Given the description of an element on the screen output the (x, y) to click on. 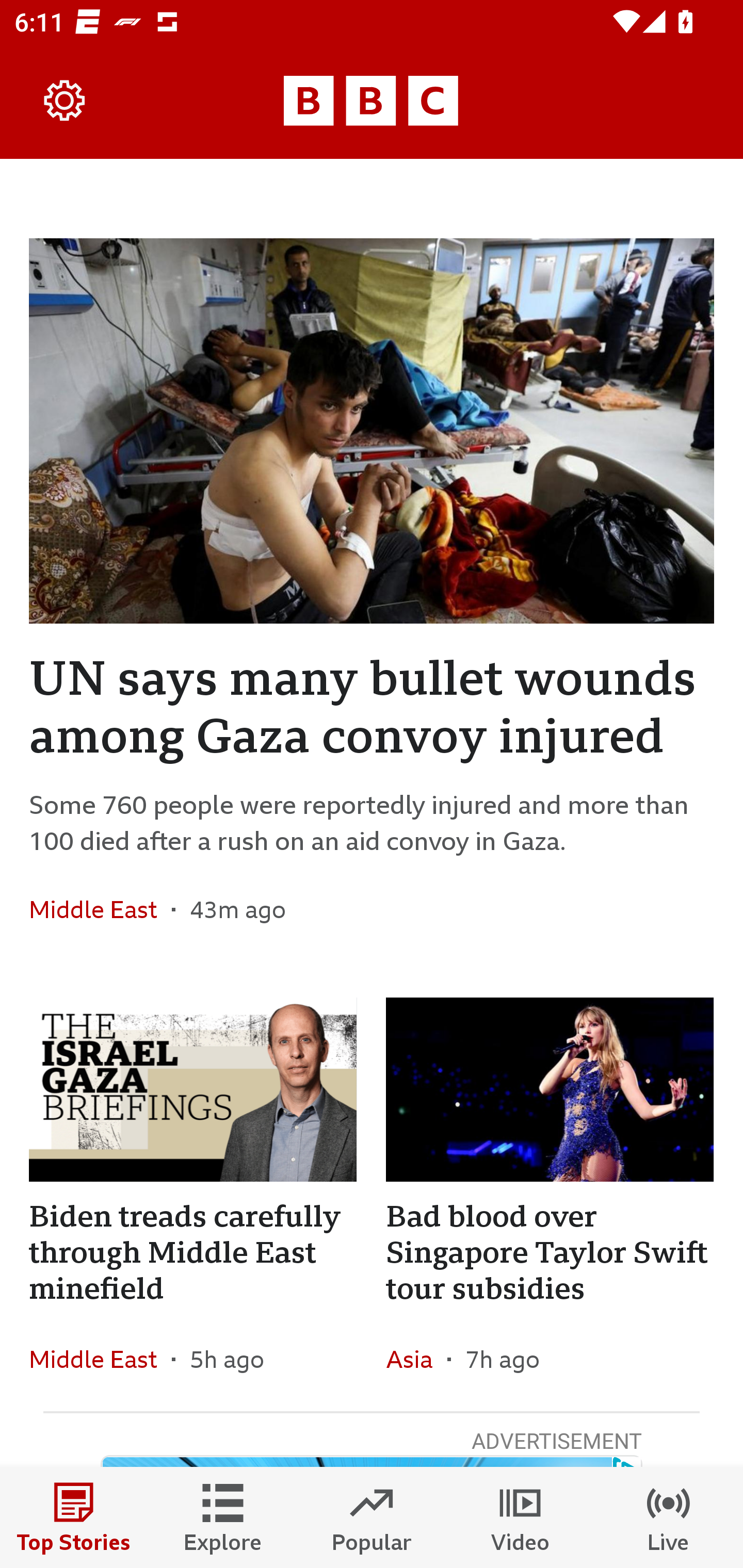
Settings (64, 100)
Middle East In the section Middle East (99, 909)
Middle East In the section Middle East (99, 1359)
Asia In the section Asia (416, 1359)
Explore (222, 1517)
Popular (371, 1517)
Video (519, 1517)
Live (668, 1517)
